Given the description of an element on the screen output the (x, y) to click on. 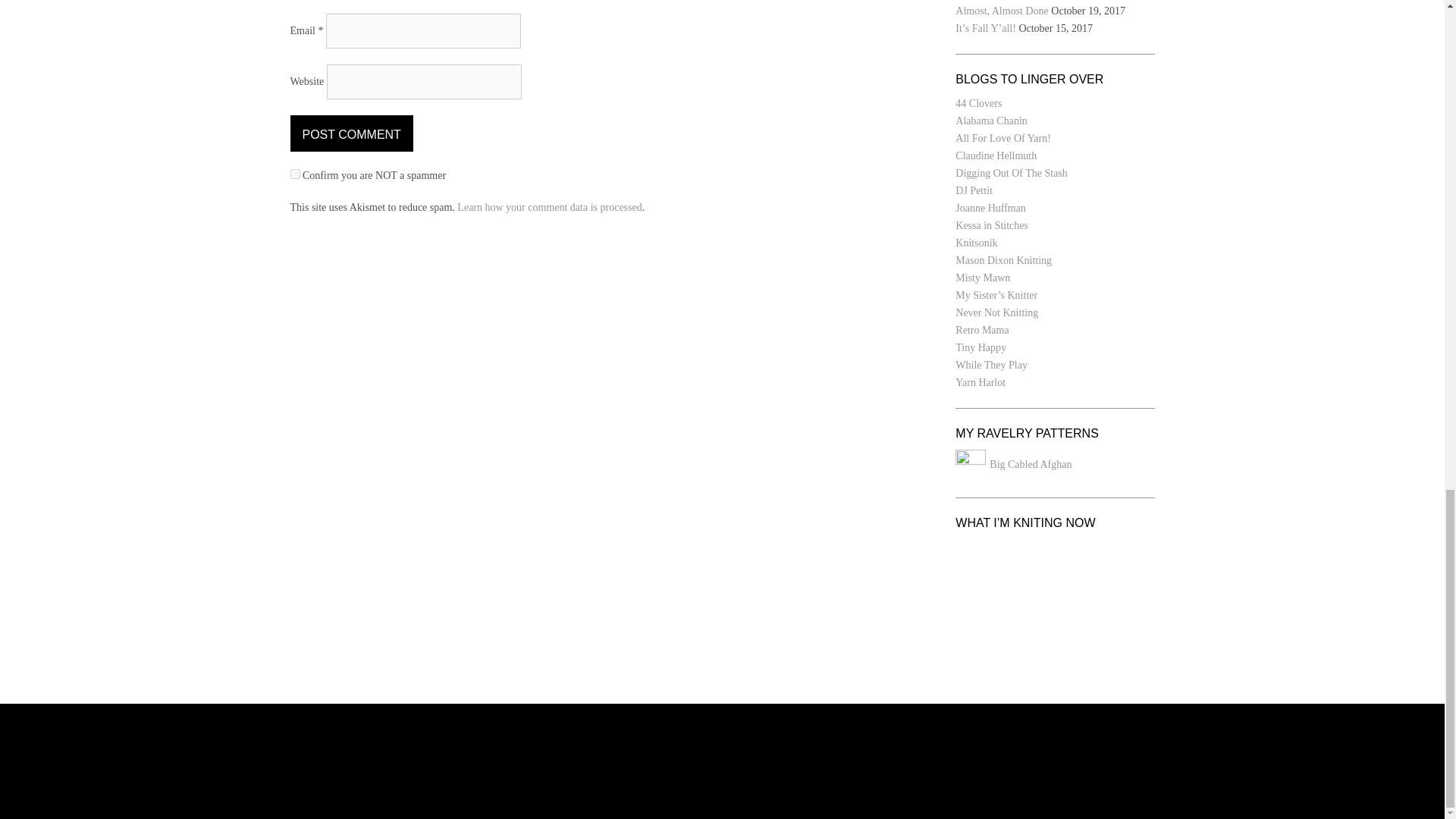
Post Comment (350, 133)
Post Comment (350, 133)
Learn how your comment data is processed (549, 206)
on (294, 173)
